Given the description of an element on the screen output the (x, y) to click on. 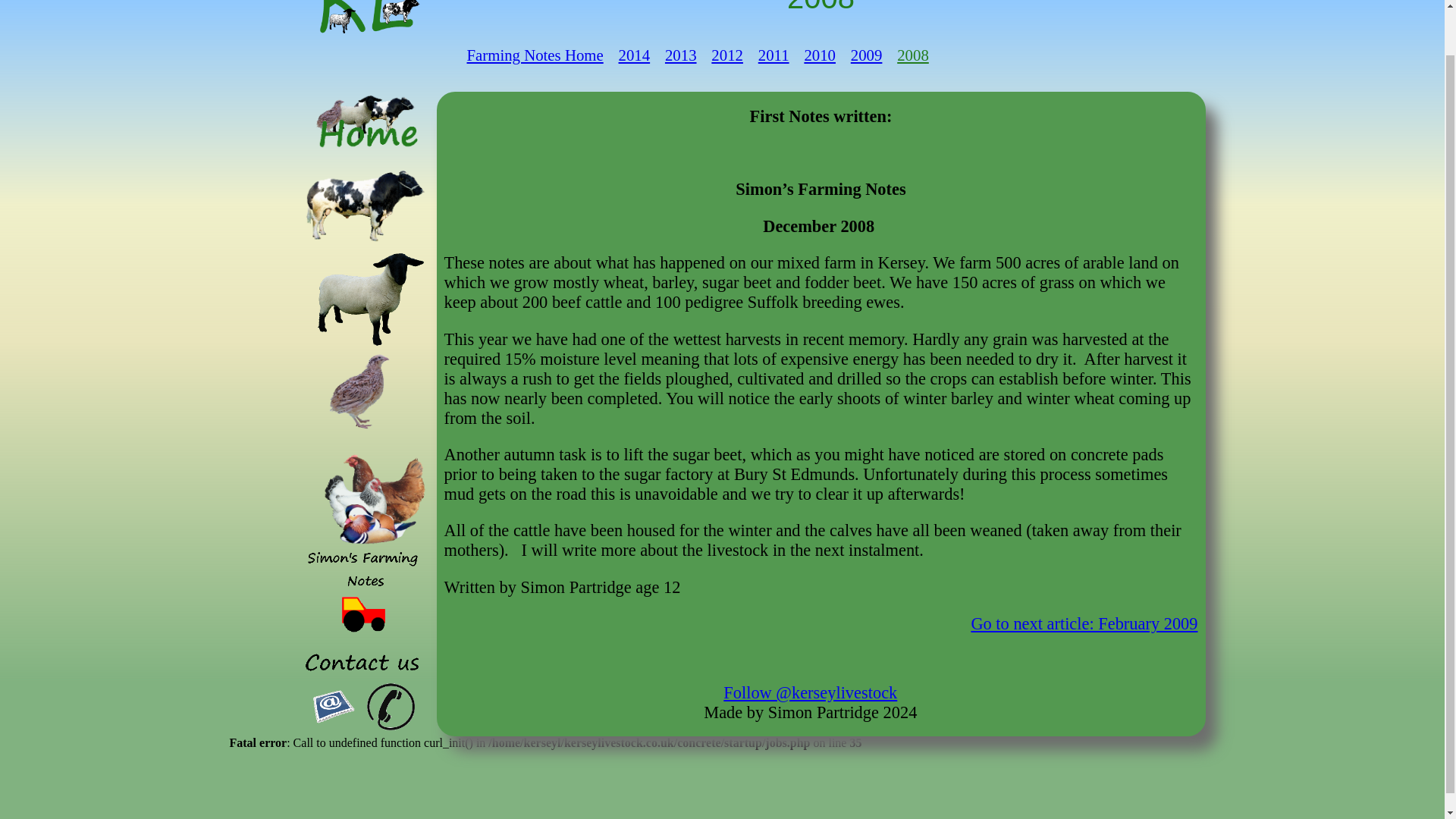
Farming Notes Home (535, 54)
2014 (634, 54)
Made by Simon Partridge 2024 (810, 711)
2010 (819, 54)
Go to next article: February 2009 (1083, 623)
2009 (866, 54)
February (1083, 623)
2012 (726, 54)
2013 (681, 54)
2011 (773, 54)
2008 (912, 54)
